Given the description of an element on the screen output the (x, y) to click on. 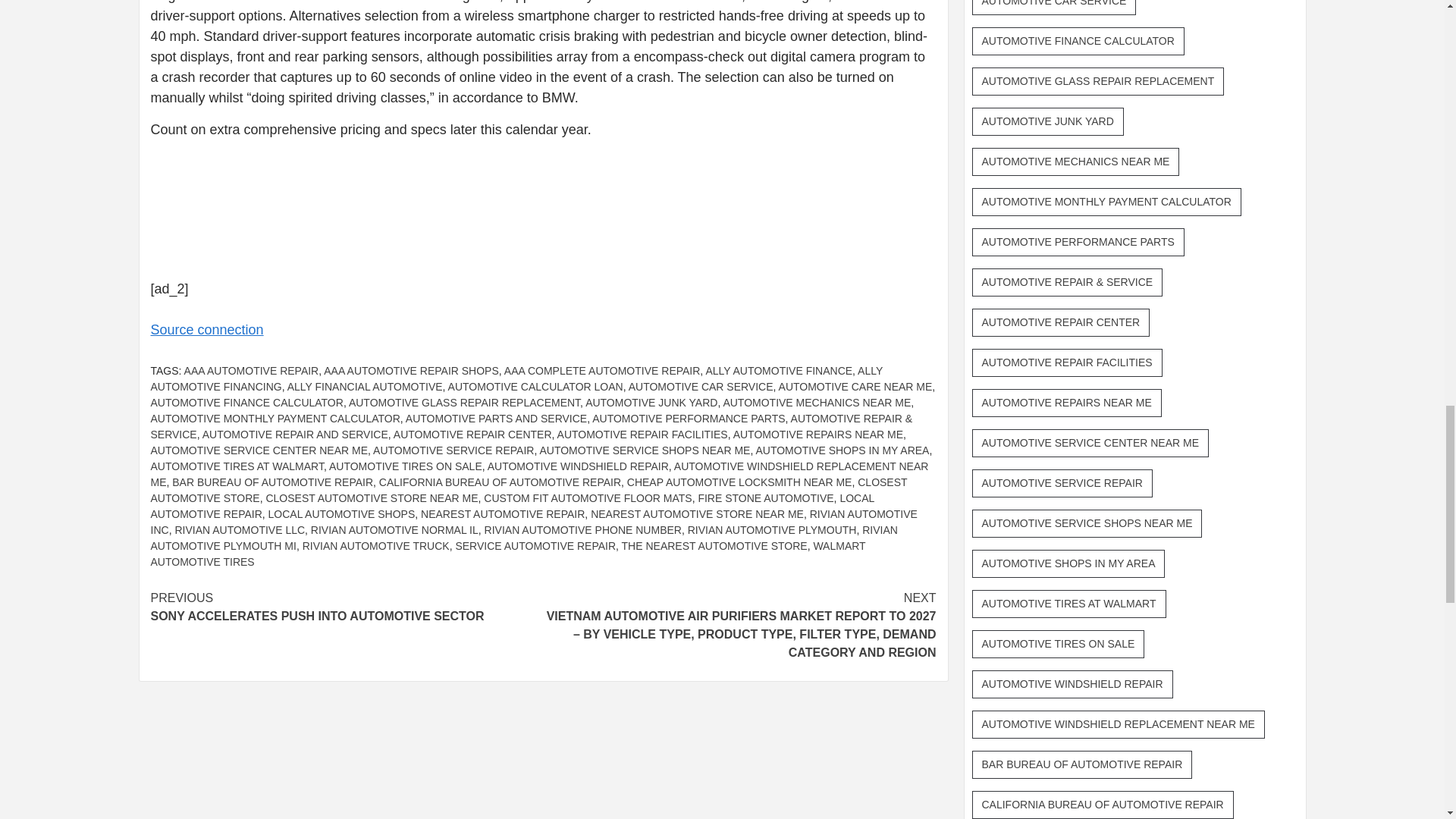
AUTOMOTIVE MONTHLY PAYMENT CALCULATOR (273, 418)
Source connection (206, 329)
ALLY AUTOMOTIVE FINANCING (515, 378)
AUTOMOTIVE PERFORMANCE PARTS (688, 418)
AUTOMOTIVE GLASS REPAIR REPLACEMENT (464, 402)
ALLY AUTOMOTIVE FINANCE (777, 370)
AUTOMOTIVE REPAIR AND SERVICE (295, 434)
AUTOMOTIVE FINANCE CALCULATOR (245, 402)
ALLY FINANCIAL AUTOMOTIVE (364, 386)
AUTOMOTIVE CARE NEAR ME (855, 386)
AUTOMOTIVE MECHANICS NEAR ME (816, 402)
AAA COMPLETE AUTOMOTIVE REPAIR (601, 370)
AAA AUTOMOTIVE REPAIR (251, 370)
AUTOMOTIVE JUNK YARD (651, 402)
AUTOMOTIVE CAR SERVICE (700, 386)
